Given the description of an element on the screen output the (x, y) to click on. 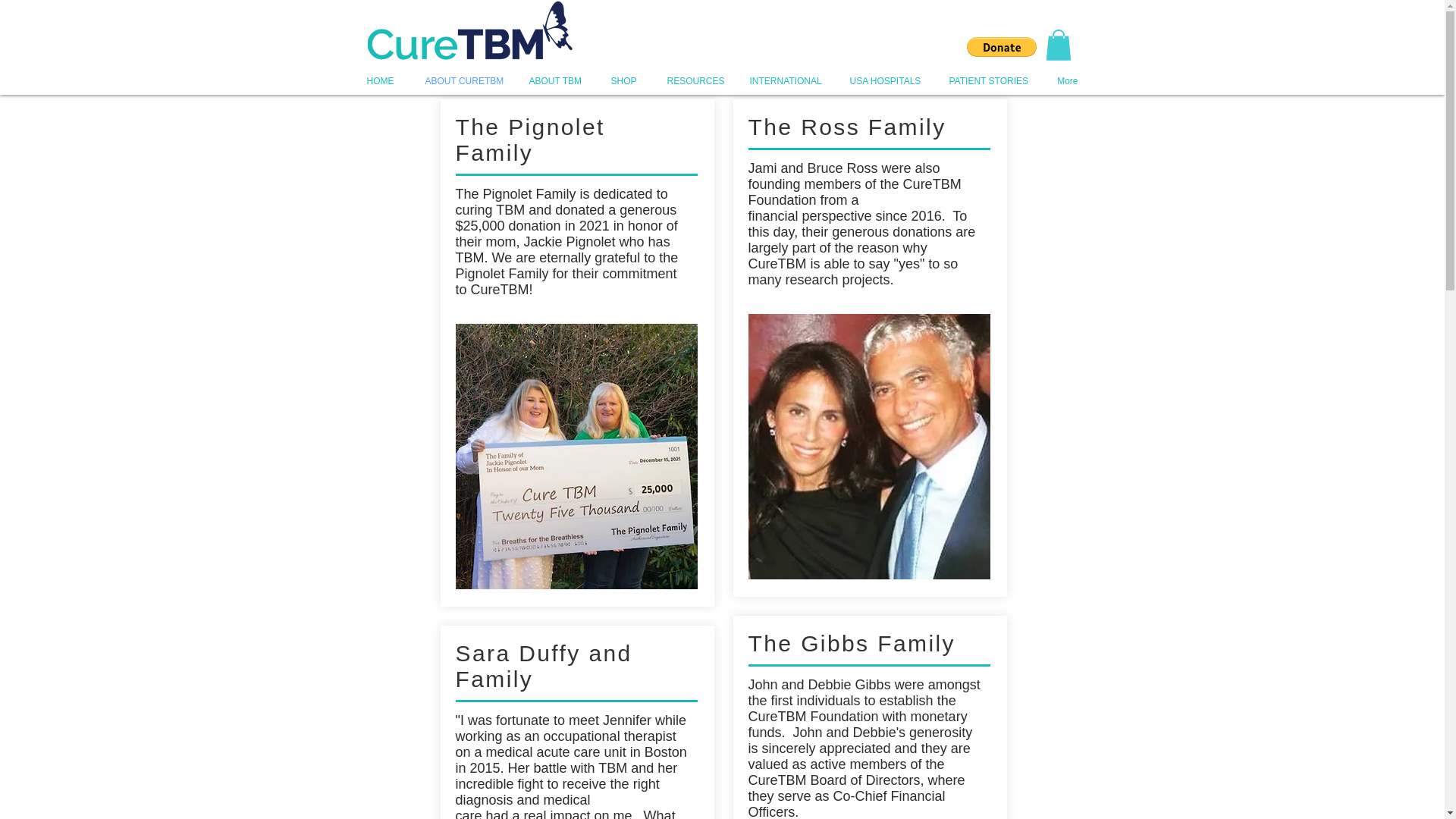
RESOURCES (691, 81)
HOME (379, 81)
ABOUT CURETBM (461, 81)
ABOUT TBM (553, 81)
PATIENT STORIES (987, 81)
SHOP (622, 81)
INTERNATIONAL (783, 81)
USA HOSPITALS (883, 81)
